Given the description of an element on the screen output the (x, y) to click on. 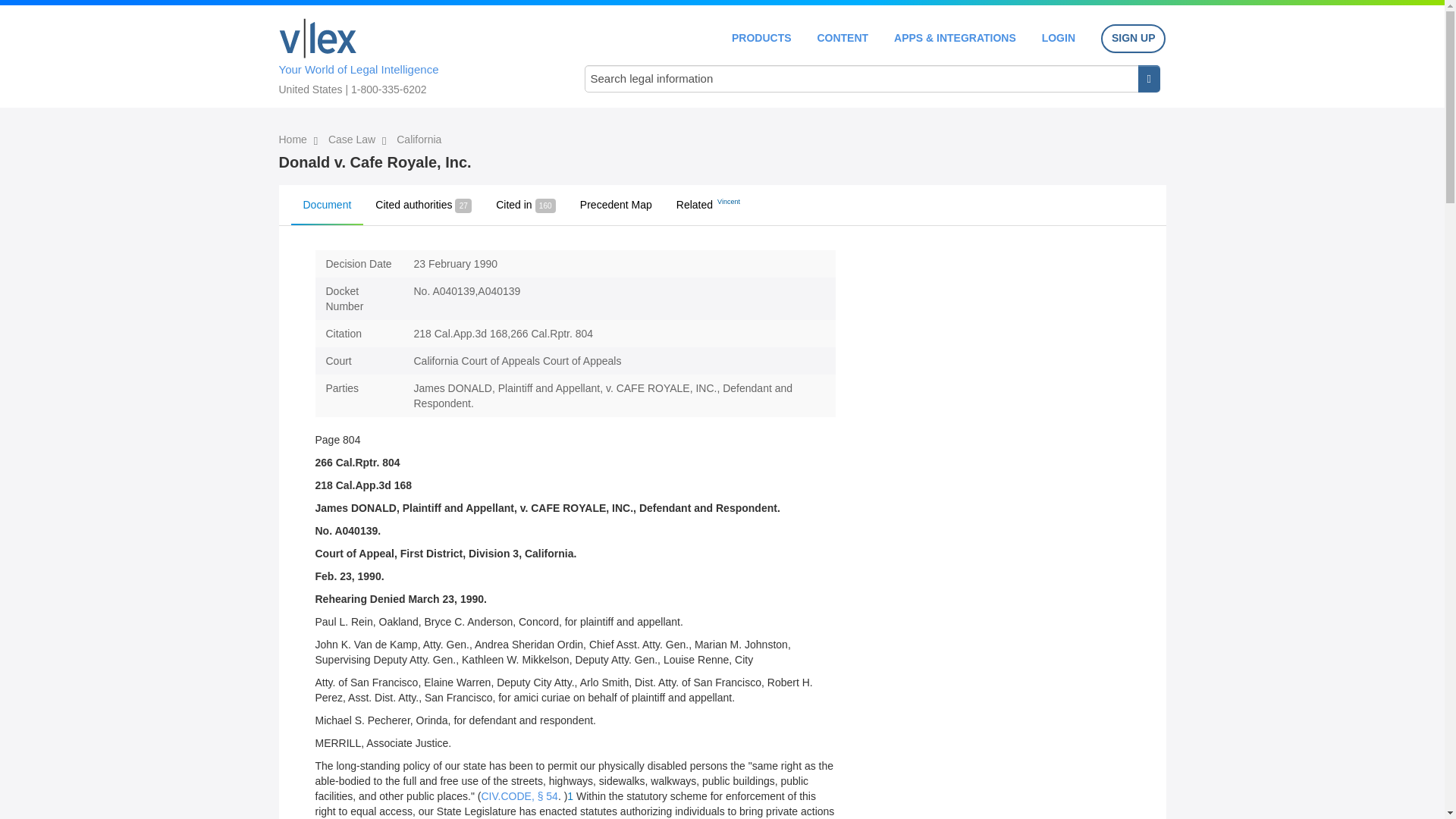
Your World of Legal Intelligence (416, 53)
Case Law (353, 139)
CONTENT (841, 37)
PRODUCTS (762, 37)
California (418, 139)
SIGN UP (1133, 38)
LOGIN (1058, 37)
Home (294, 139)
Home (317, 38)
